Given the description of an element on the screen output the (x, y) to click on. 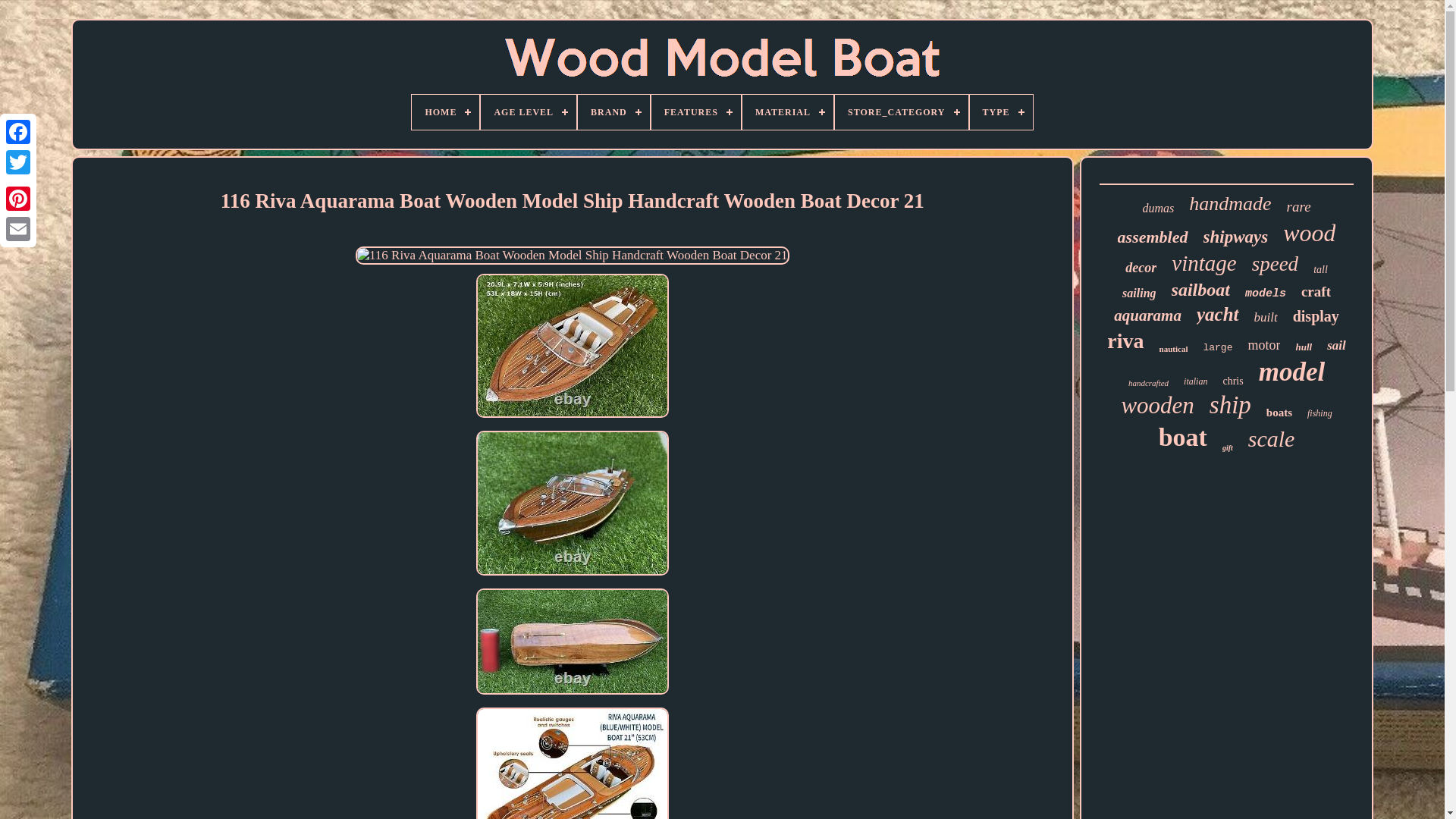
HOME (445, 112)
AGE LEVEL (528, 112)
BRAND (613, 112)
